Given the description of an element on the screen output the (x, y) to click on. 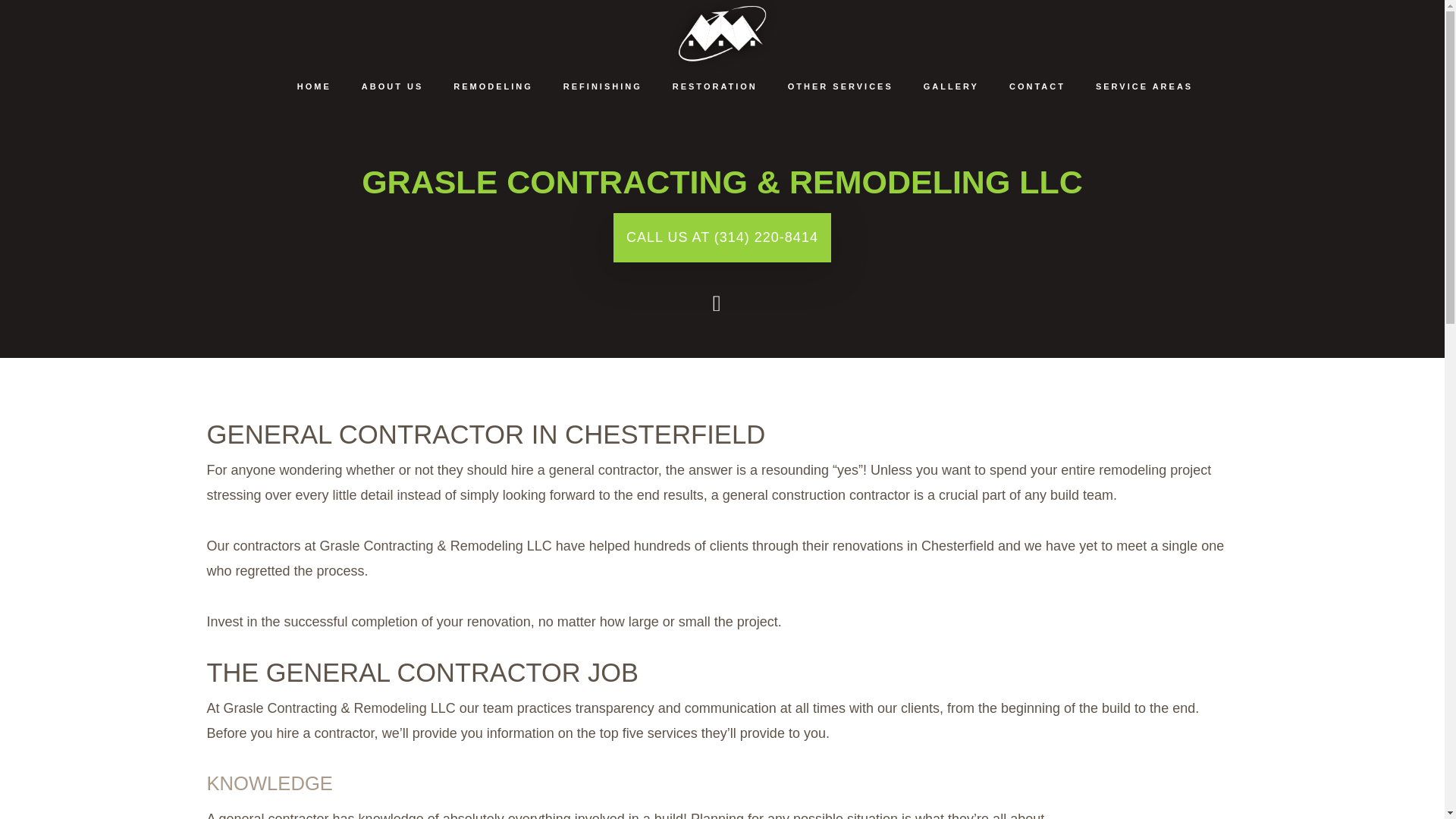
TILE REPAIR (840, 166)
BASEMENT REMODELING (493, 132)
HOME ADDITIONS (840, 268)
COUNTERTOP REFINISHING (603, 132)
HARDWOOD FLOOR REFINISHING (603, 166)
REMODELING CONTRACTOR (493, 268)
REMODELING (493, 86)
BATHROOM REMODELING (493, 166)
HOME (313, 86)
NATURAL DISASTER RESTORATION (715, 166)
